Given the description of an element on the screen output the (x, y) to click on. 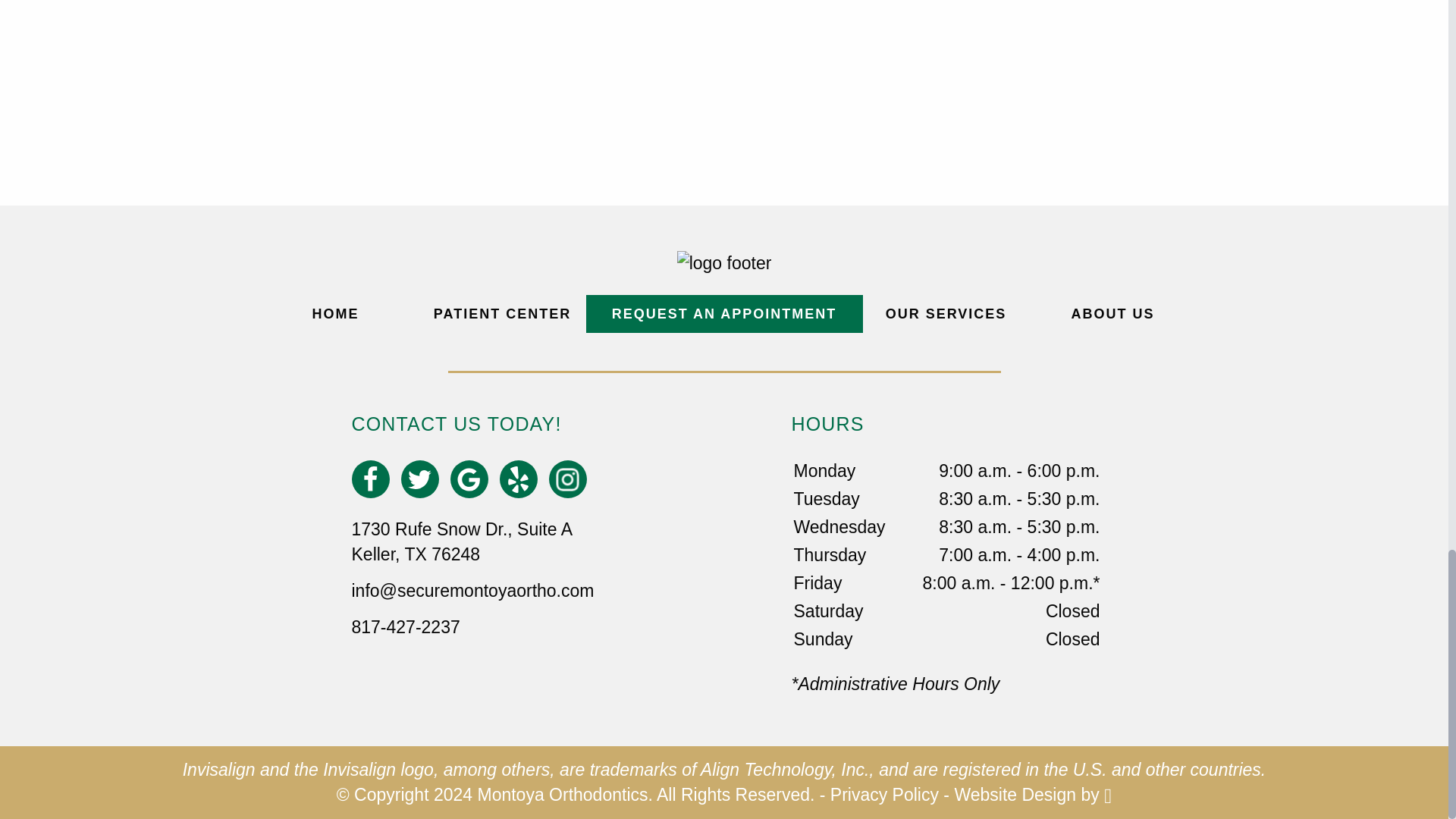
Google icon (468, 479)
Instagram icon (567, 479)
Twitter icon (419, 479)
Yelp icon (518, 479)
Facebook icon (370, 479)
